Given the description of an element on the screen output the (x, y) to click on. 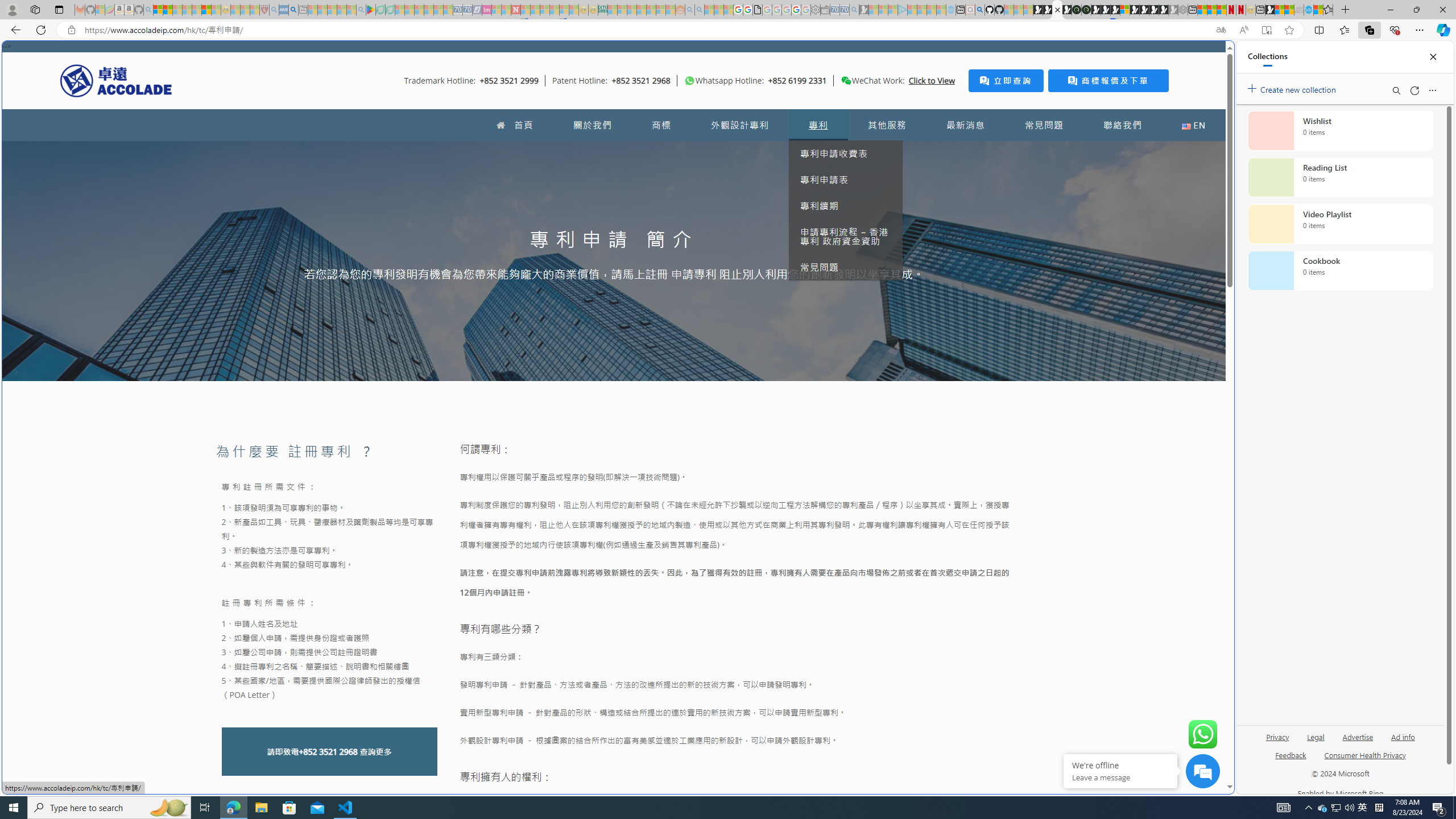
Create new collection (1293, 87)
